Given the description of an element on the screen output the (x, y) to click on. 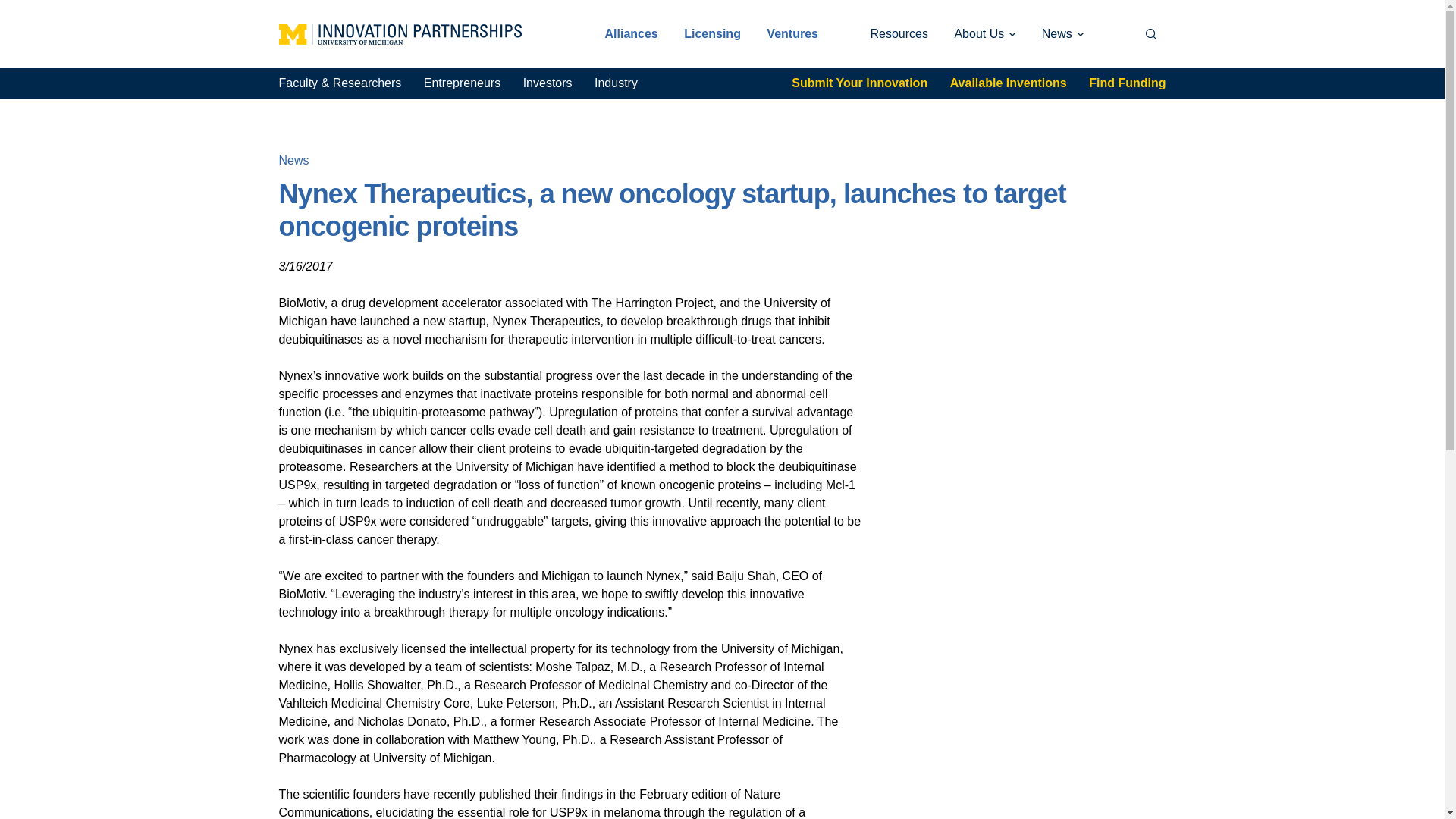
News (1062, 33)
Industry (615, 82)
Alliances (631, 33)
About Us (983, 33)
Investors (547, 82)
Submit Your Innovation (859, 82)
Available Inventions (1008, 82)
Ventures (792, 33)
Entrepreneurs (461, 82)
Resources (899, 33)
